Given the description of an element on the screen output the (x, y) to click on. 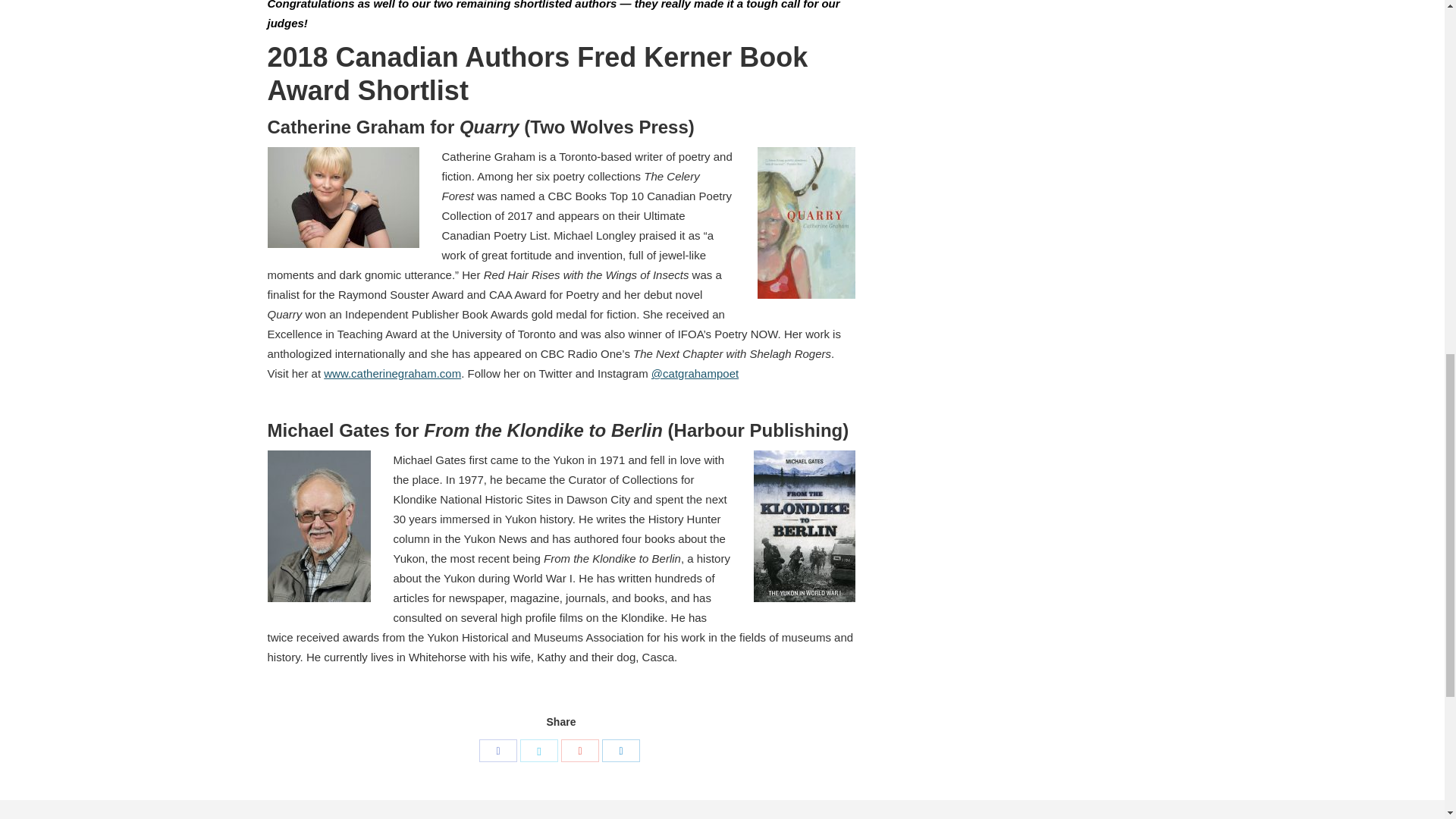
LinkedIn (621, 750)
Facebook (497, 750)
Twitter (538, 750)
